Given the description of an element on the screen output the (x, y) to click on. 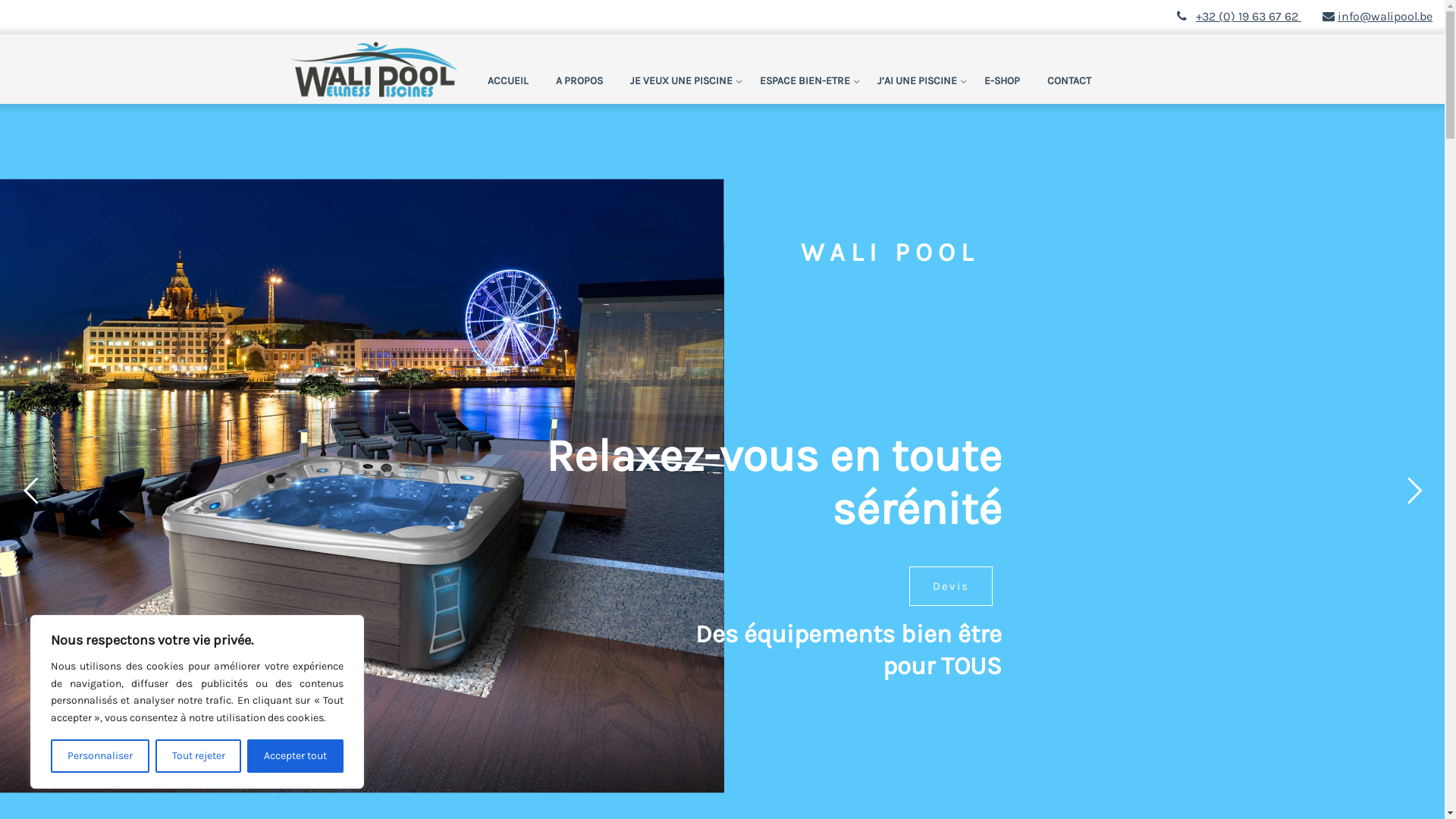
E-SHOP Element type: text (1001, 81)
Accepter tout Element type: text (295, 755)
+32 (0) 19 63 67 62 Element type: text (1248, 16)
Personnaliser Element type: text (99, 755)
CONTACT Element type: text (1068, 81)
JE VEUX UNE PISCINE Element type: text (681, 81)
Devis Element type: text (949, 585)
  info@walipool.be Element type: text (1377, 16)
ACCUEIL Element type: text (514, 81)
A PROPOS Element type: text (579, 81)
Tout rejeter Element type: text (198, 755)
ESPACE BIEN-ETRE Element type: text (804, 81)
